Given the description of an element on the screen output the (x, y) to click on. 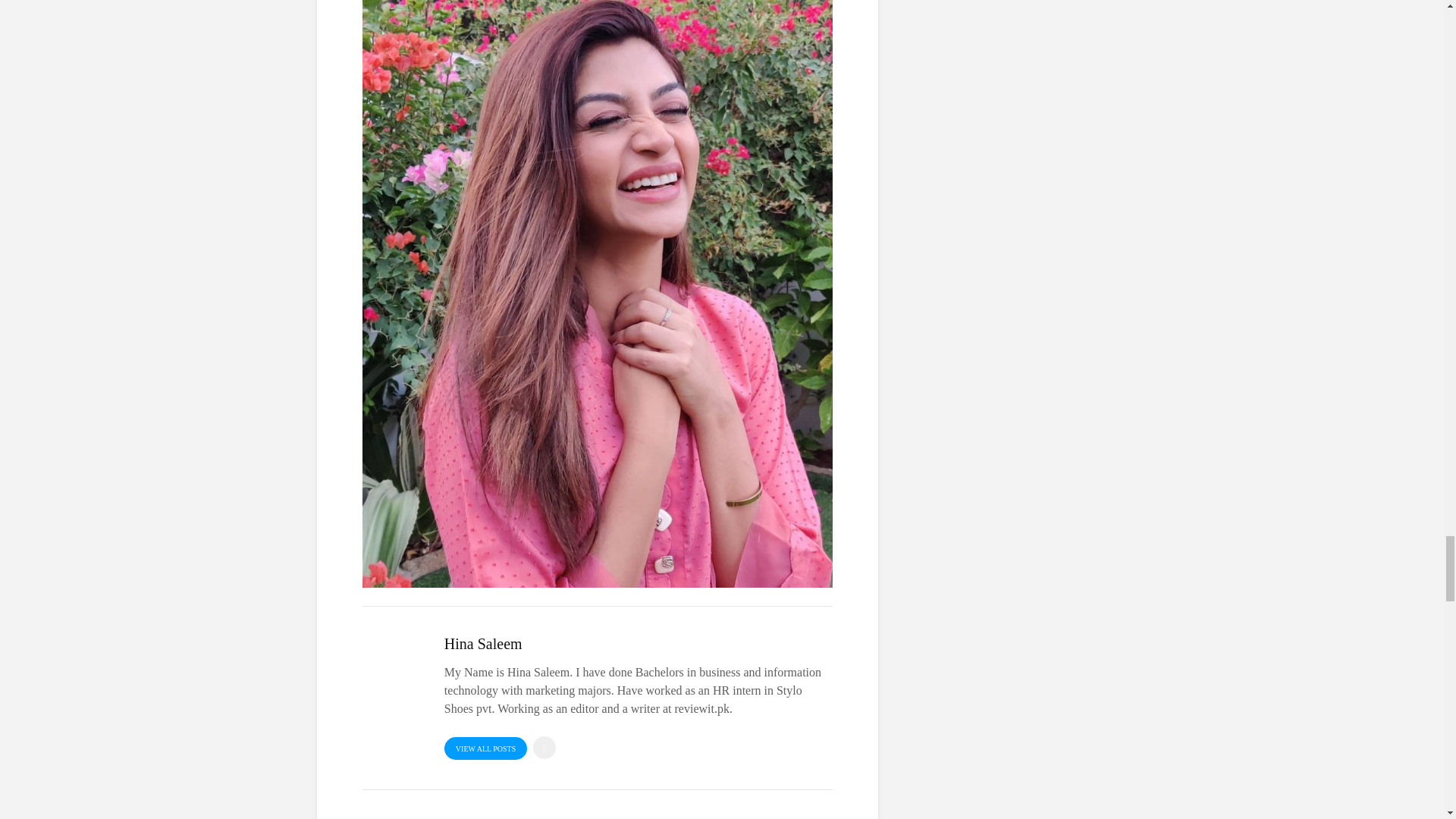
VIEW ALL POSTS (485, 748)
